Given the description of an element on the screen output the (x, y) to click on. 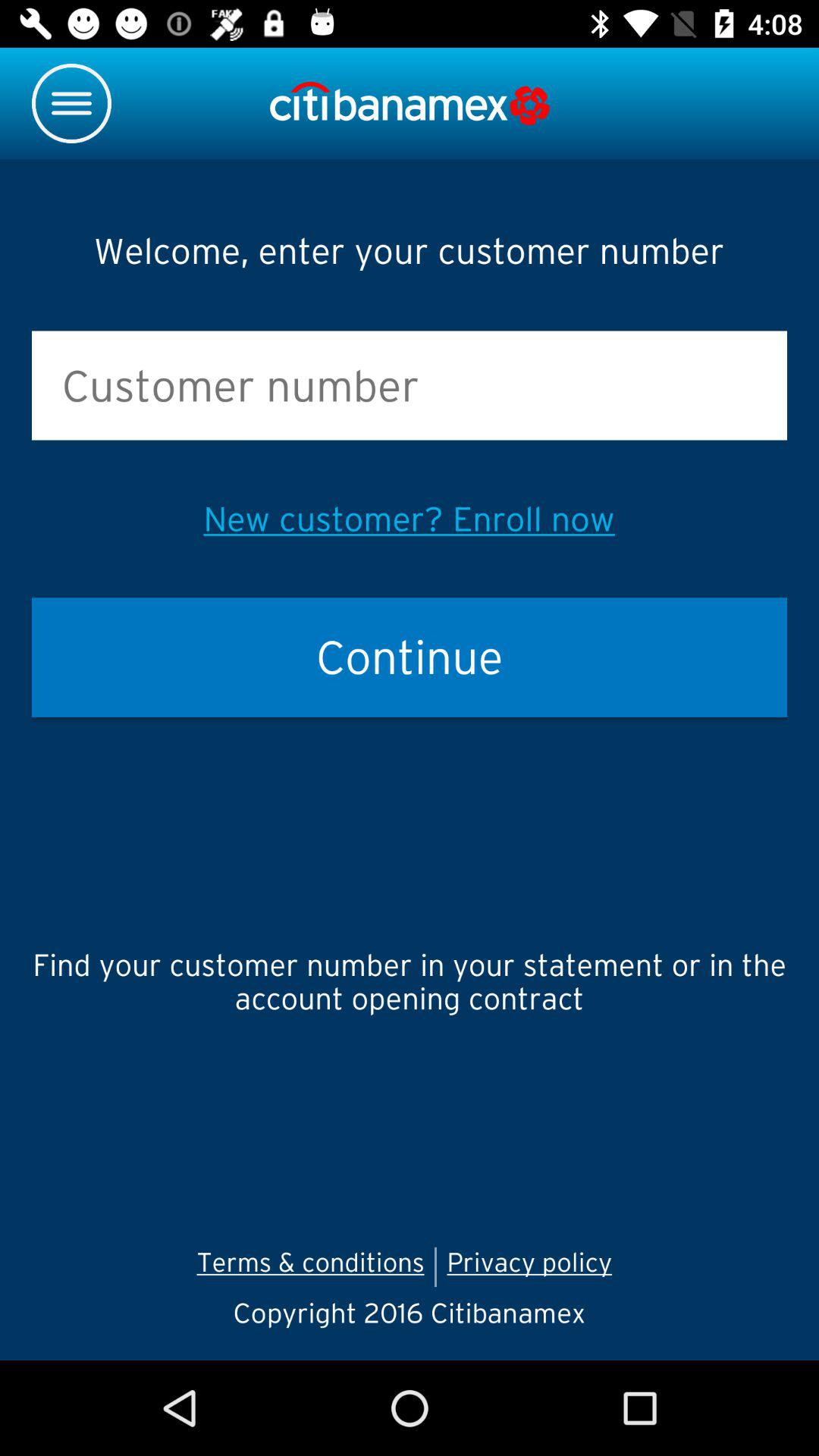
turn on the terms & conditions item (310, 1267)
